Given the description of an element on the screen output the (x, y) to click on. 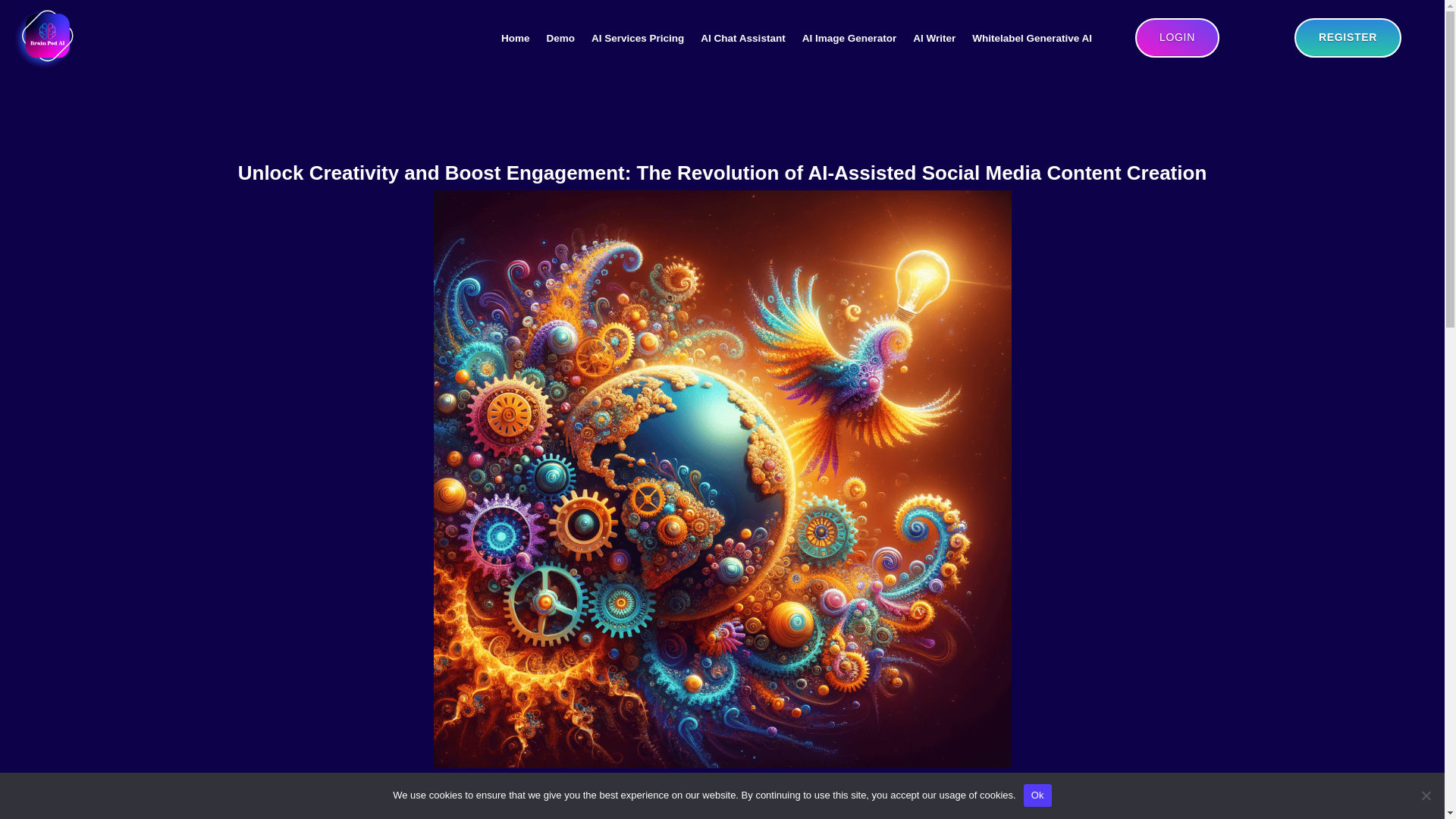
LOGIN (1177, 37)
AI Chat Assistant (742, 37)
Whitelabel Generative AI (1032, 37)
REGISTER (1347, 37)
AI Image Generator (849, 37)
AI Services Pricing (637, 37)
No (1425, 795)
